Given the description of an element on the screen output the (x, y) to click on. 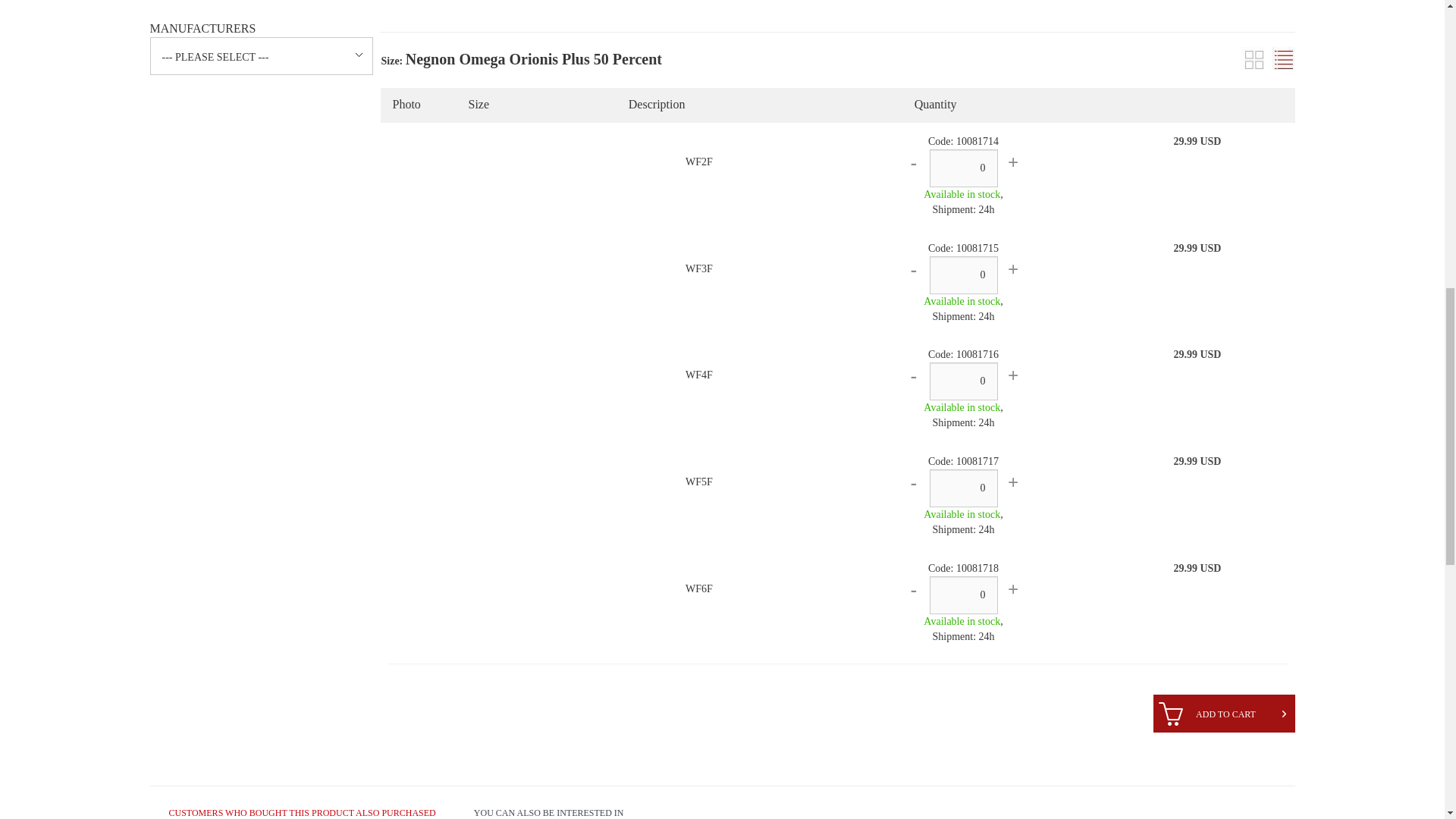
0 (963, 381)
0 (963, 275)
0 (963, 595)
--- Please Select --- (260, 55)
0 (963, 487)
0 (963, 168)
